Given the description of an element on the screen output the (x, y) to click on. 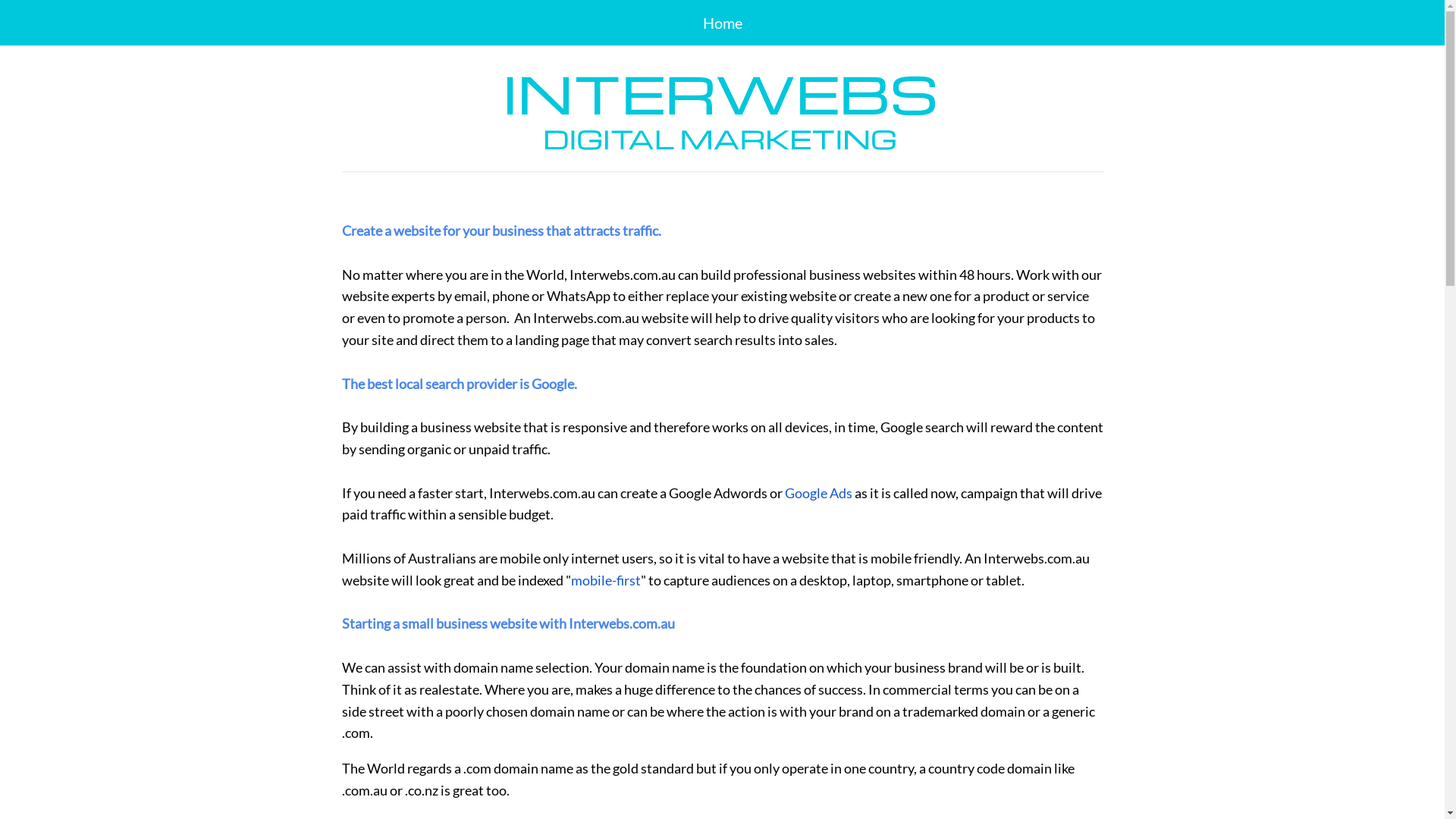
mobile-first Element type: text (605, 579)
Google Ads Element type: text (817, 492)
Home Element type: text (721, 22)
